Given the description of an element on the screen output the (x, y) to click on. 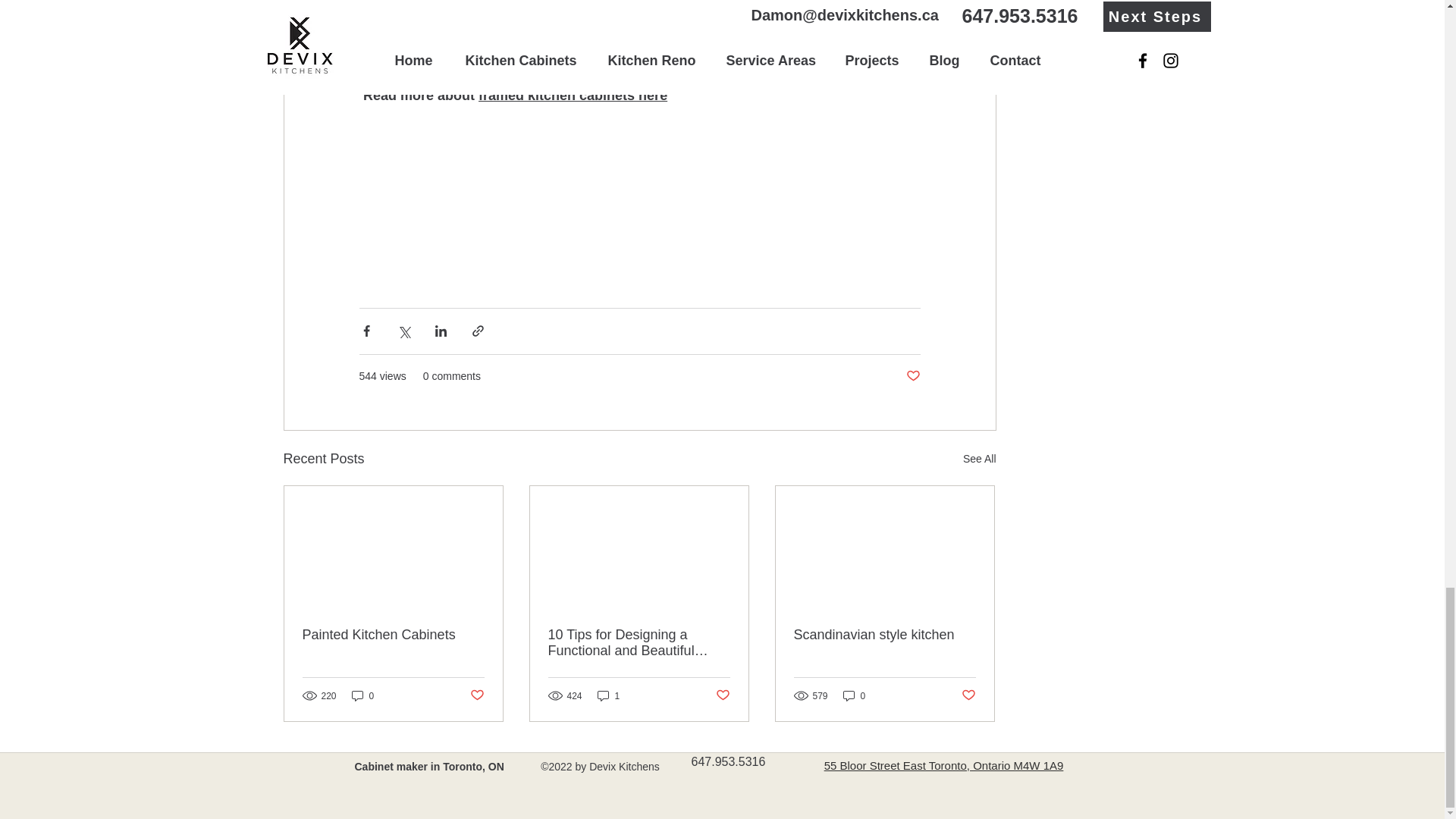
See All (978, 458)
framed kitchen cabinets here (572, 95)
Post not marked as liked (912, 376)
